Given the description of an element on the screen output the (x, y) to click on. 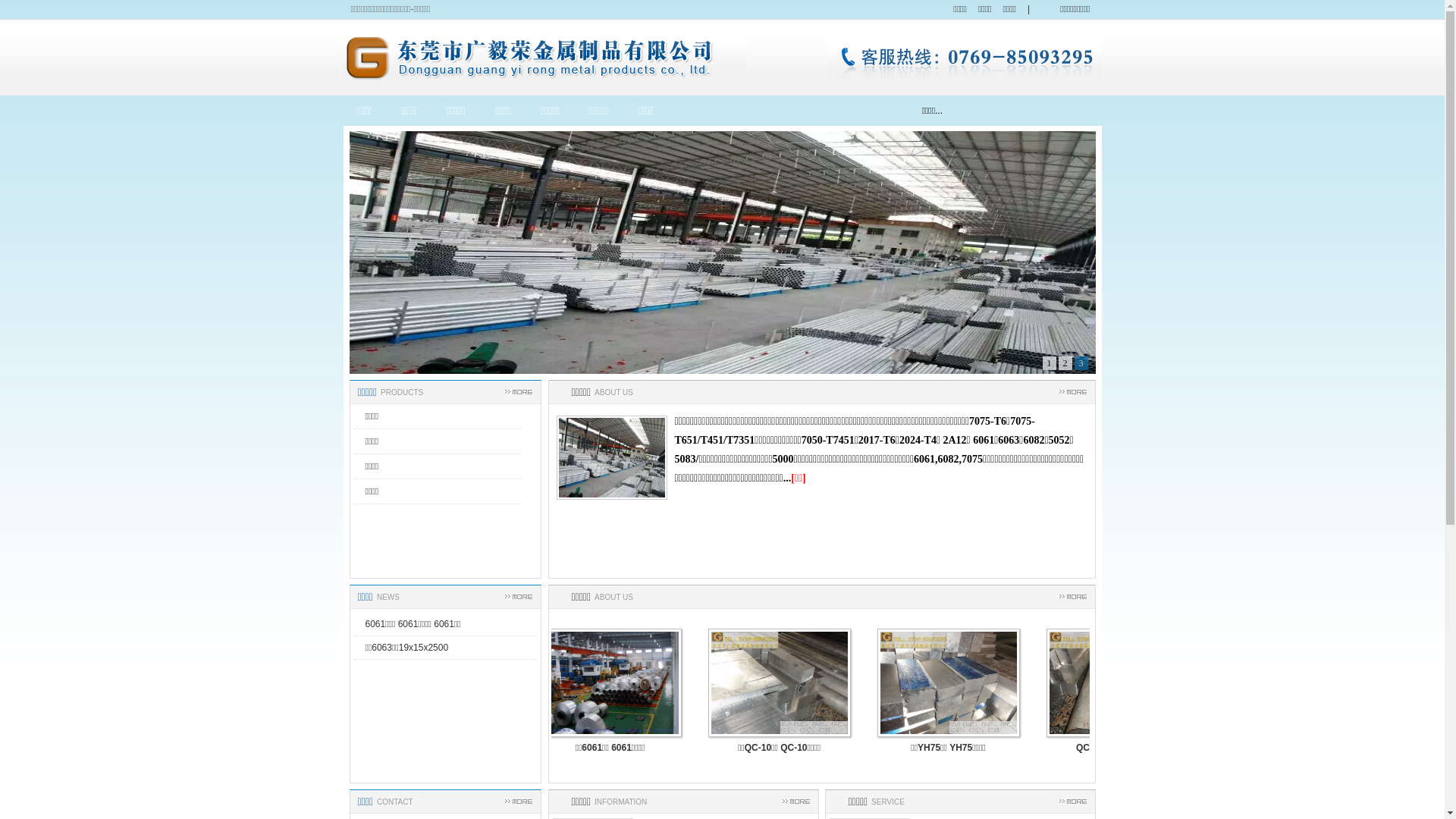
| Element type: text (1028, 9)
